Given the description of an element on the screen output the (x, y) to click on. 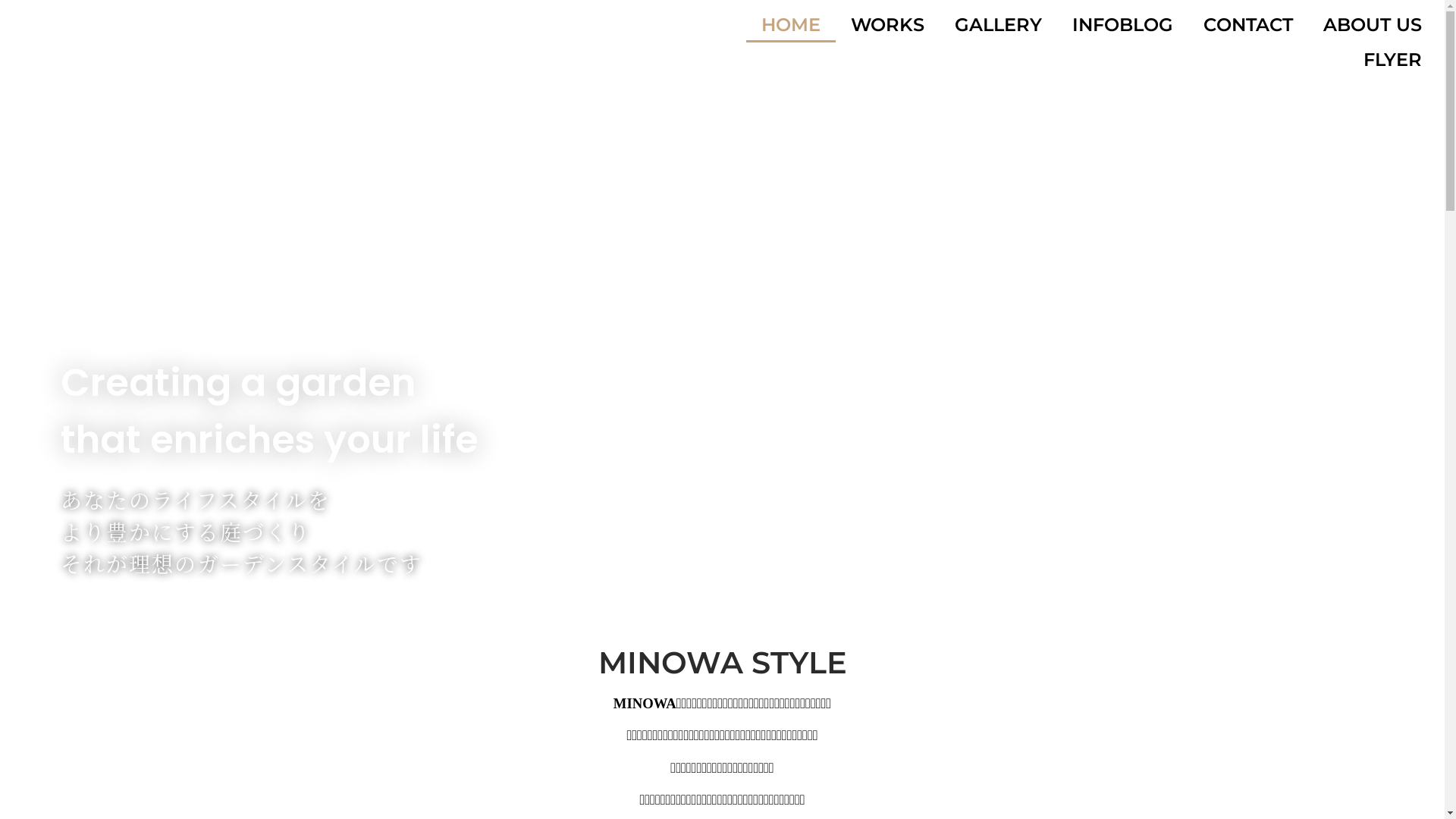
ABOUT US Element type: text (1372, 24)
GALLERY Element type: text (998, 24)
FLYER Element type: text (1392, 59)
CONTACT Element type: text (1248, 24)
WORKS Element type: text (887, 24)
INFOBLOG Element type: text (1122, 24)
HOME Element type: text (790, 24)
